Given the description of an element on the screen output the (x, y) to click on. 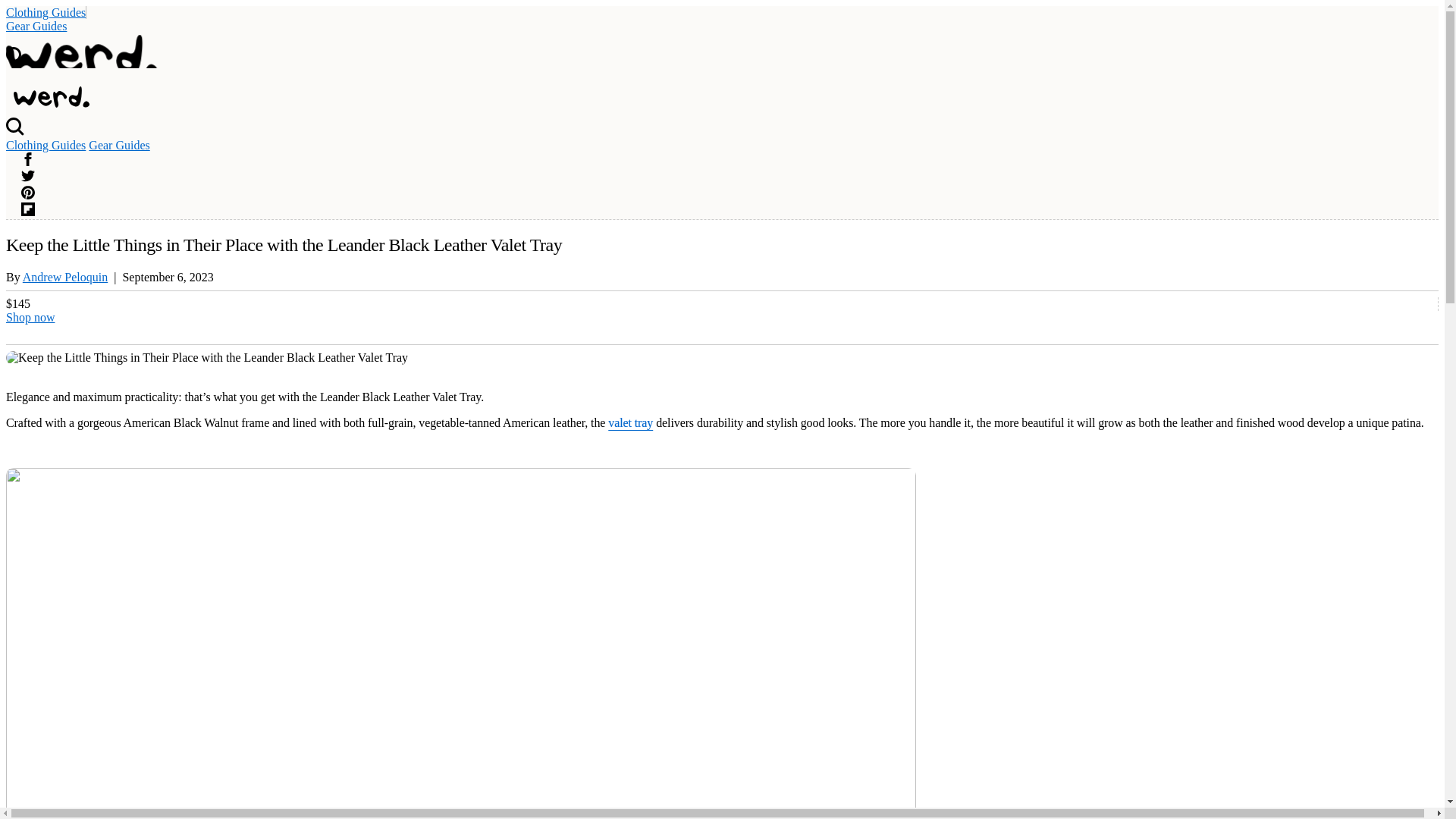
pinterest (27, 192)
twitter (27, 178)
werd.com gear for men (46, 103)
Search WERD (14, 131)
Gear Guides (118, 144)
Search WERD (14, 60)
Clothing Guides (45, 11)
werd.com (81, 55)
werd.com gear for men (50, 96)
